Given the description of an element on the screen output the (x, y) to click on. 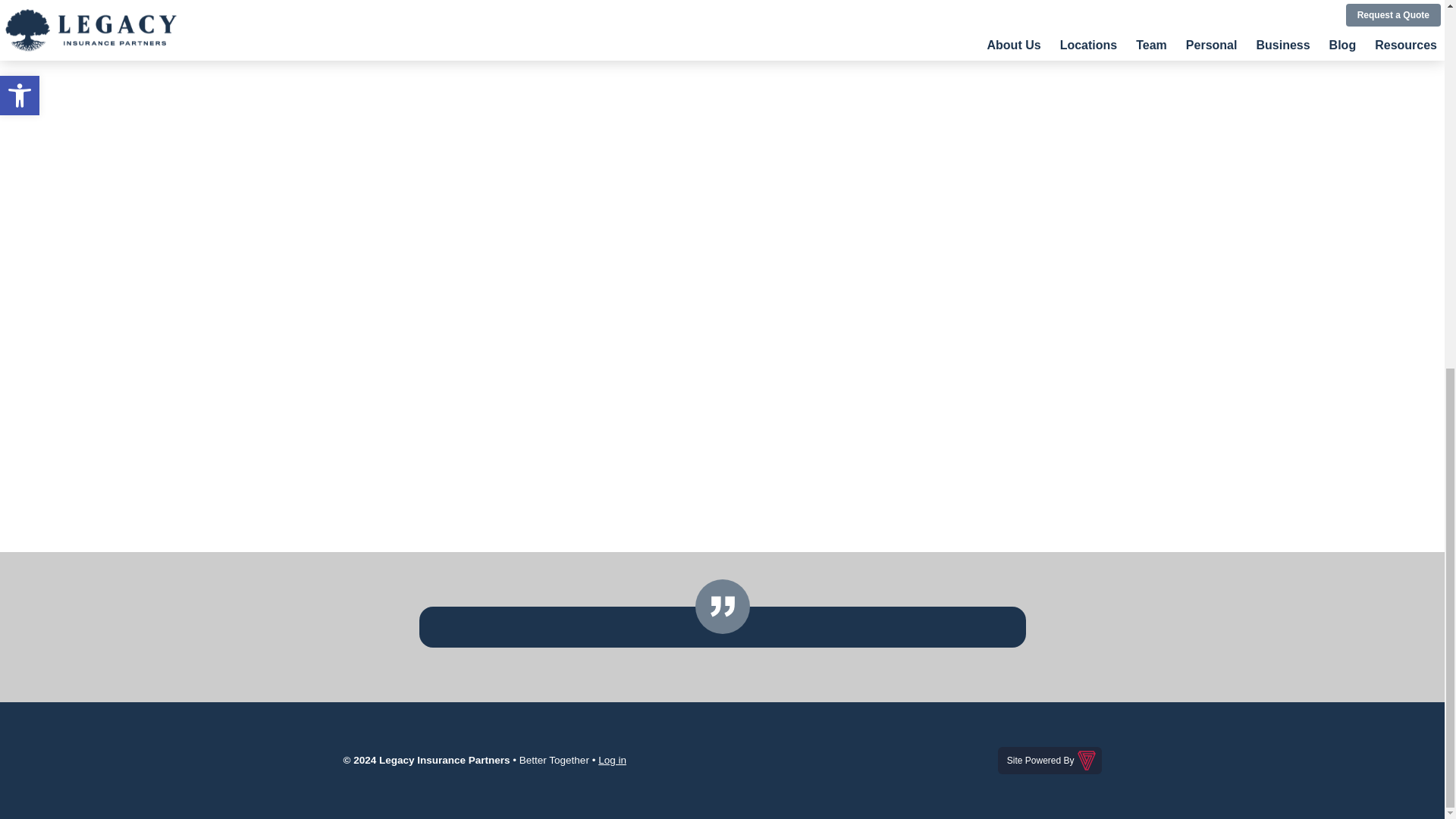
The Drink Team helps serve lunch at The Corner Table. (721, 410)
Wellness trip to the USNWC (505, 123)
The owners took the "Leap Frogs" out to lunch. (721, 230)
108A0751 (398, 123)
Team building (828, 123)
Spirit Week (936, 123)
Celebrating Joe for earning his MBA (828, 230)
Reverie Media (1049, 759)
Our office won the WellBusiness Gold award for 2017! (505, 230)
We are a WellBusiness in 2016. (936, 230)
Wellness trip to the USNWC (613, 123)
Laura's wedding shower (1044, 123)
On the way to deliver Valentine's cards to nursing homes (470, 410)
The team waited on tables at The Corner Table. (1044, 230)
The "covering" of Commercial Lines (721, 123)
